Given the description of an element on the screen output the (x, y) to click on. 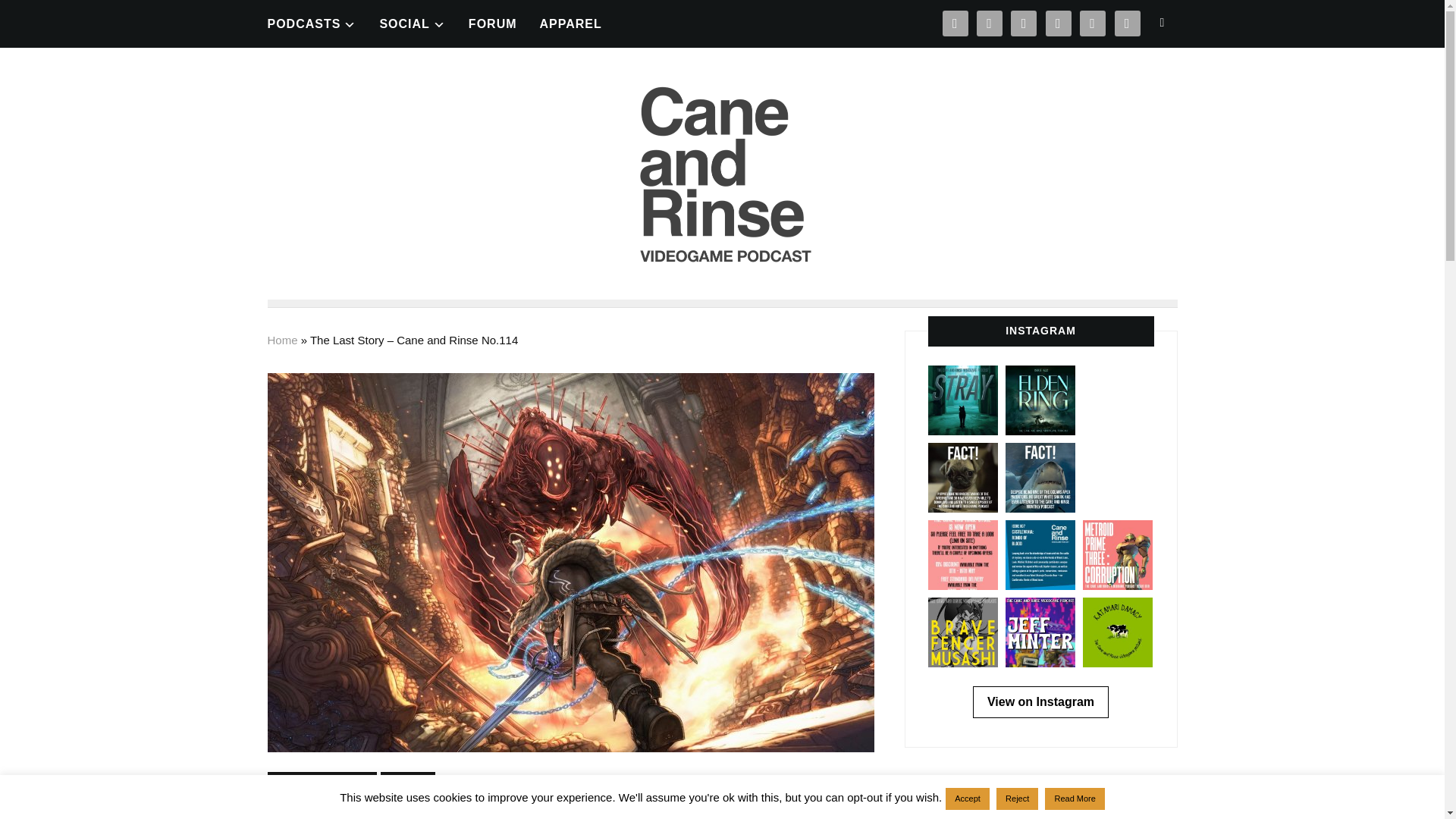
MAIL (955, 21)
APPAREL (571, 23)
SOCIAL (411, 23)
INSTAGRAM (1058, 21)
Facebook (1127, 21)
FORUM (492, 23)
Search (1161, 22)
THREADS (1023, 21)
PATREON (989, 21)
PODCASTS (311, 23)
